Given the description of an element on the screen output the (x, y) to click on. 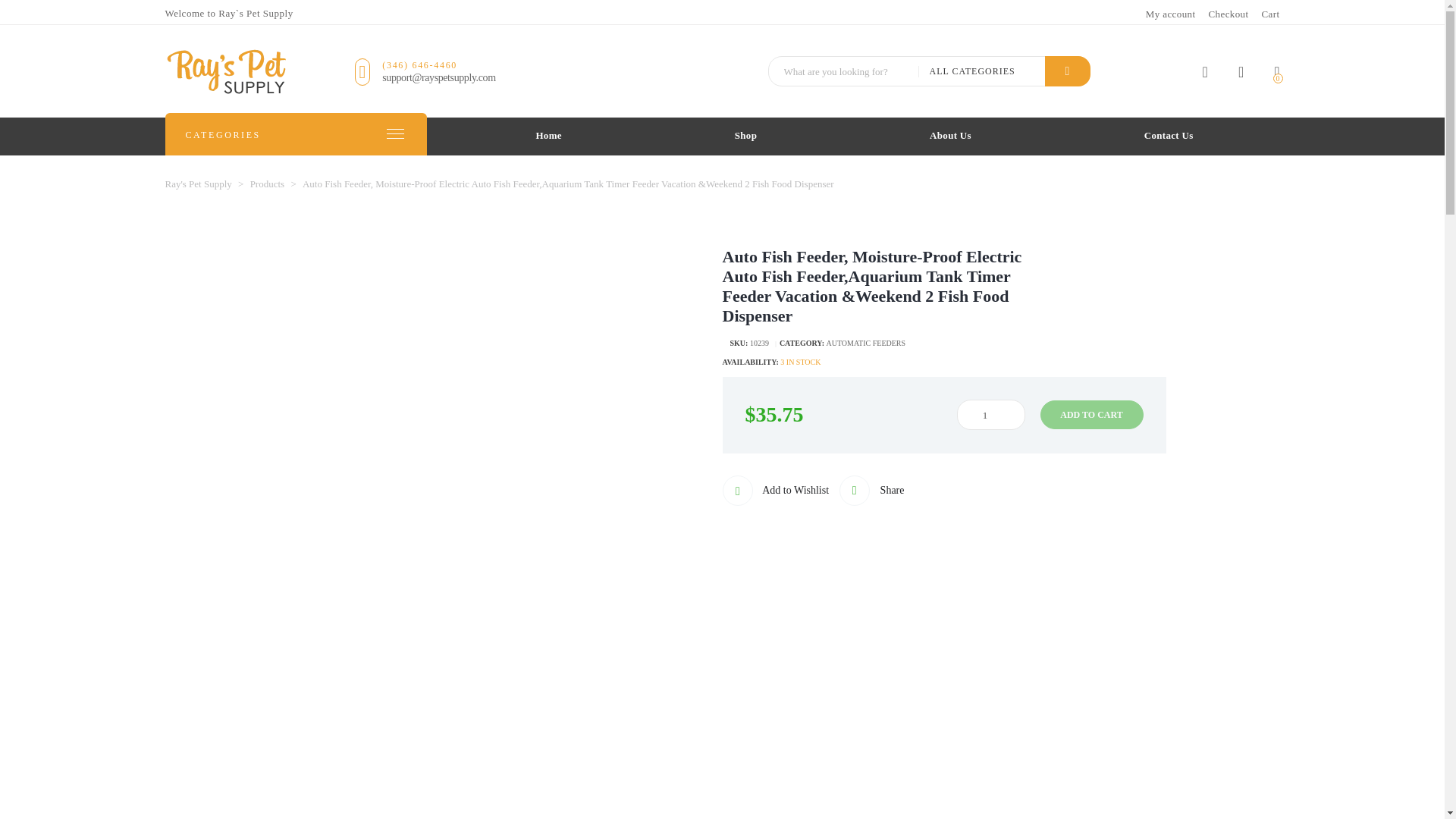
Checkout (1227, 13)
1 (990, 414)
Go to Ray's Pet Supply. (198, 183)
Go to Products. (267, 183)
Qty (990, 414)
Cart (1270, 13)
My account (1205, 73)
My account (1170, 13)
